Given the description of an element on the screen output the (x, y) to click on. 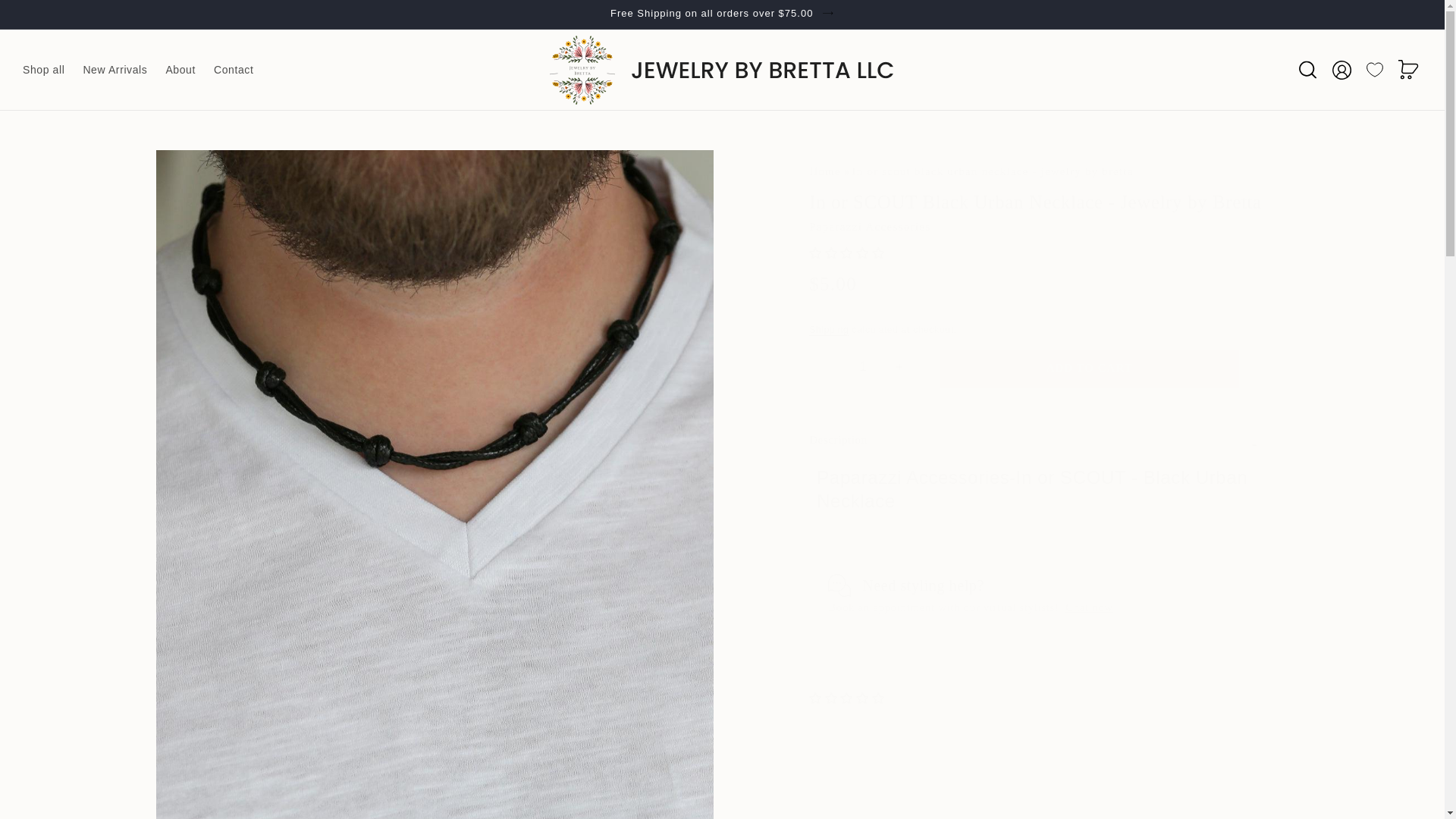
New Arrivals (114, 69)
Contact (233, 69)
Shop all (43, 69)
1 (863, 366)
Skip to product information (200, 166)
Cart (1408, 69)
About (180, 69)
Log in (1341, 69)
Skip to content (45, 16)
